Given the description of an element on the screen output the (x, y) to click on. 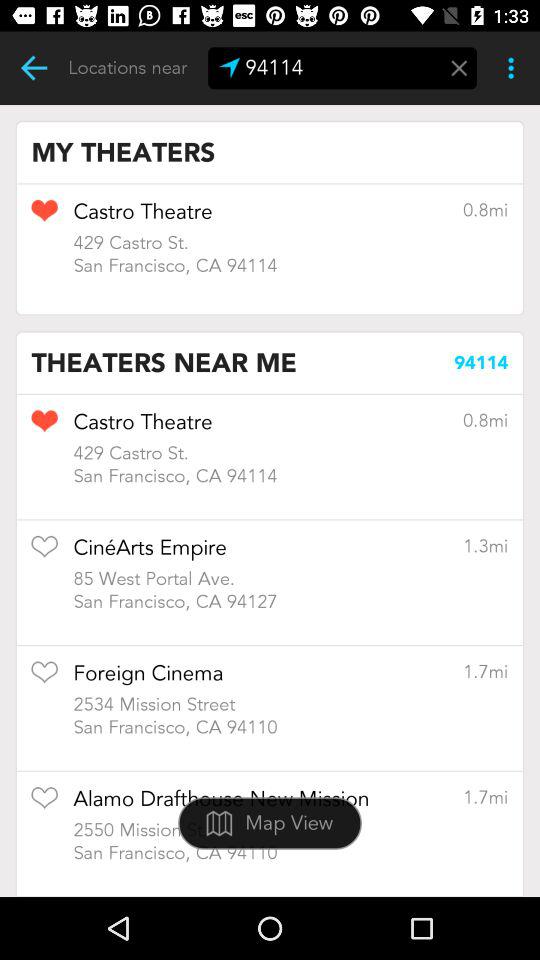
go back (34, 67)
